Given the description of an element on the screen output the (x, y) to click on. 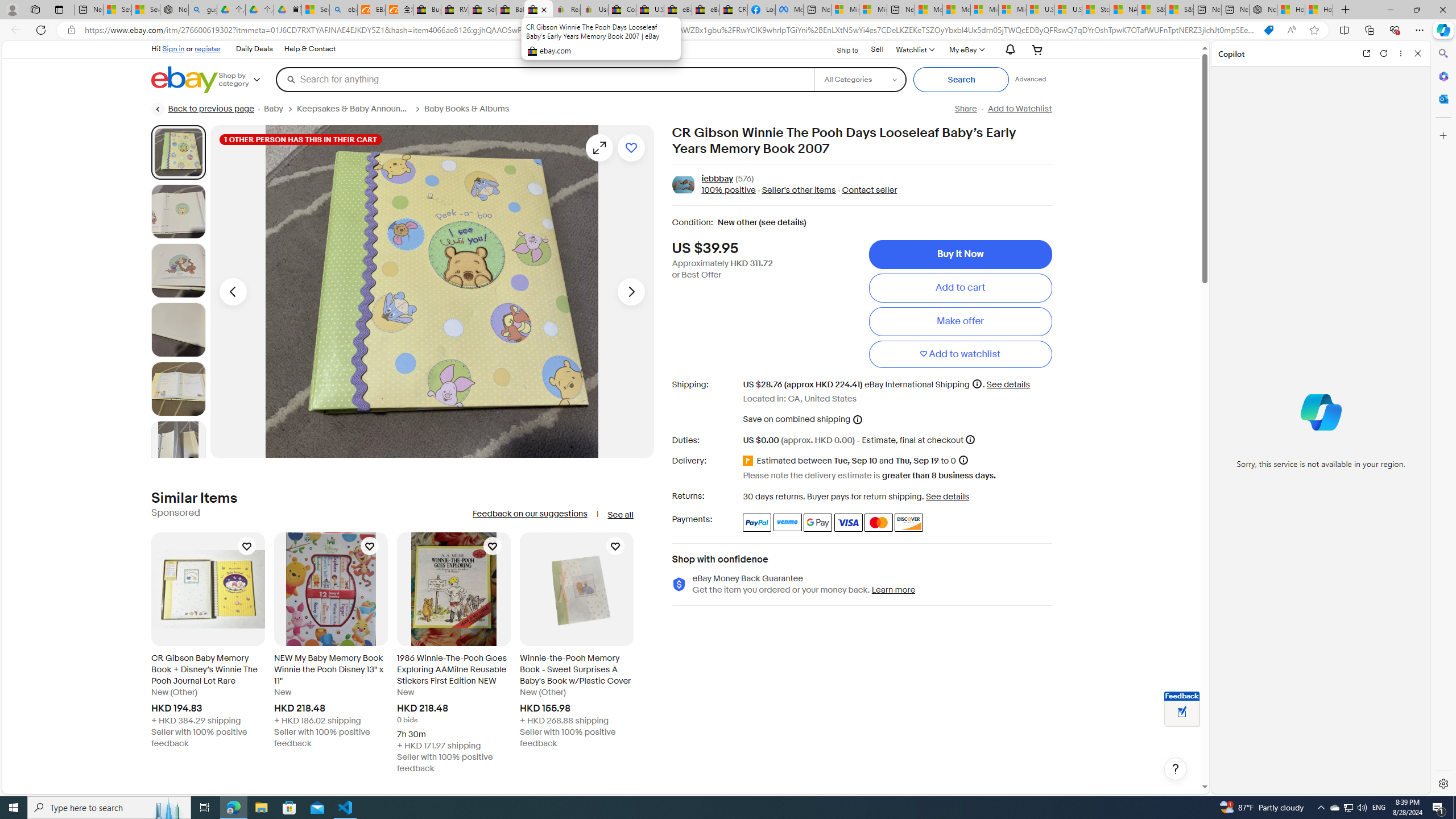
My eBayExpand My eBay (966, 49)
Picture 1 of 22 (178, 152)
Add to watchlist (959, 353)
Daily Deals (254, 49)
eBay Inc. Reports Third Quarter 2023 Results (706, 9)
Picture 5 of 22 (178, 388)
Picture 5 of 22 (178, 388)
Sell (877, 49)
